Given the description of an element on the screen output the (x, y) to click on. 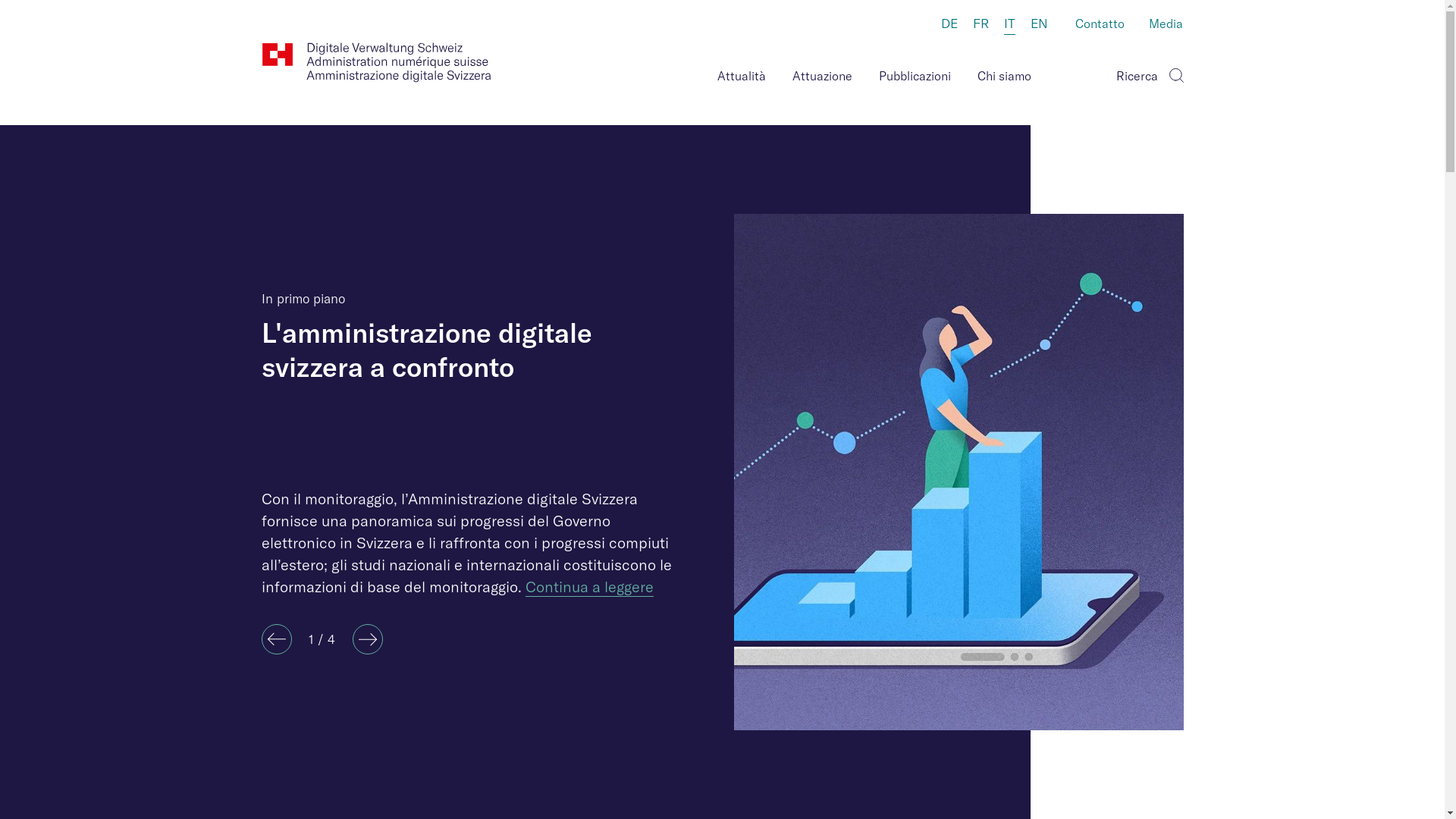
EN Element type: text (1038, 24)
Cerca Element type: text (1174, 72)
Media Element type: text (1165, 24)
Website Logo Element type: text (376, 62)
IT Element type: text (1009, 24)
Continua a leggere Element type: text (588, 586)
Contatto Element type: text (1098, 24)
DE Element type: text (948, 24)
FR Element type: text (980, 24)
